Given the description of an element on the screen output the (x, y) to click on. 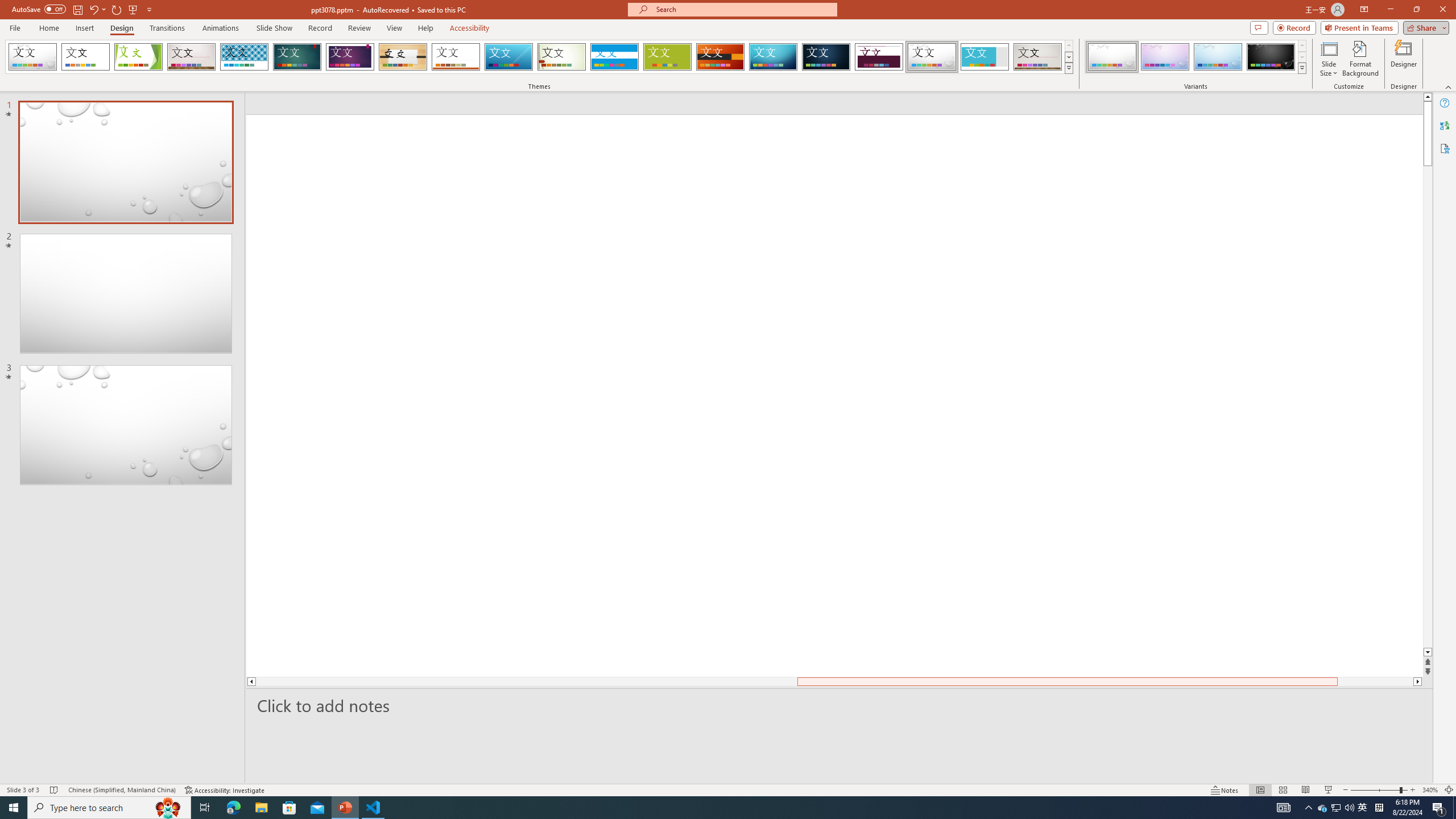
Format Background (1360, 58)
Berlin (720, 56)
Droplet Variant 4 (1270, 56)
AutomationID: SlideThemesGallery (539, 56)
